Given the description of an element on the screen output the (x, y) to click on. 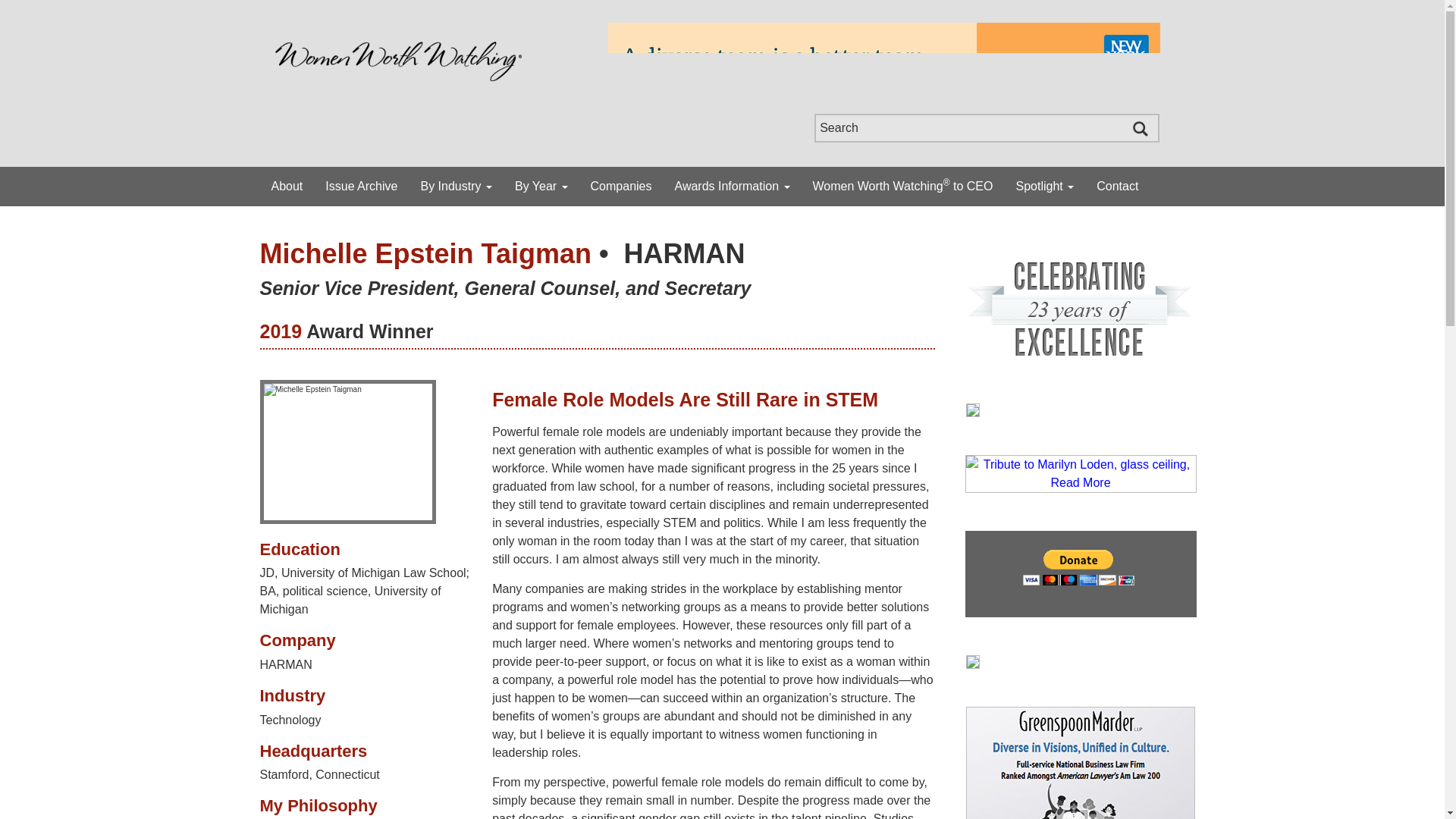
By Industry (455, 186)
Issue Archive (361, 186)
Search (985, 127)
About (286, 186)
About (286, 186)
Issue Archive (361, 186)
By Industry (455, 186)
Search (985, 127)
By Year (541, 186)
